Given the description of an element on the screen output the (x, y) to click on. 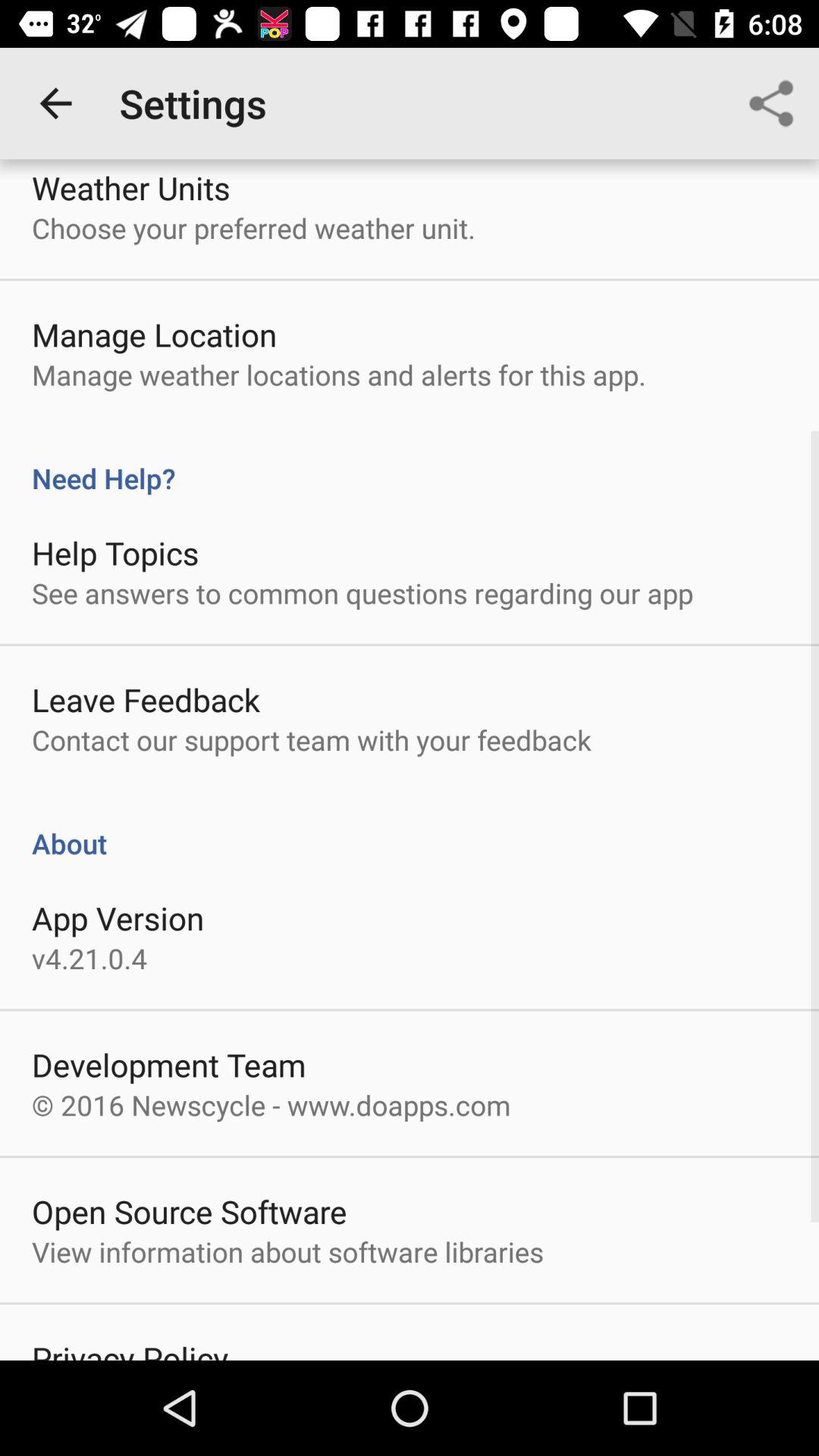
flip to open source software item (188, 1211)
